Given the description of an element on the screen output the (x, y) to click on. 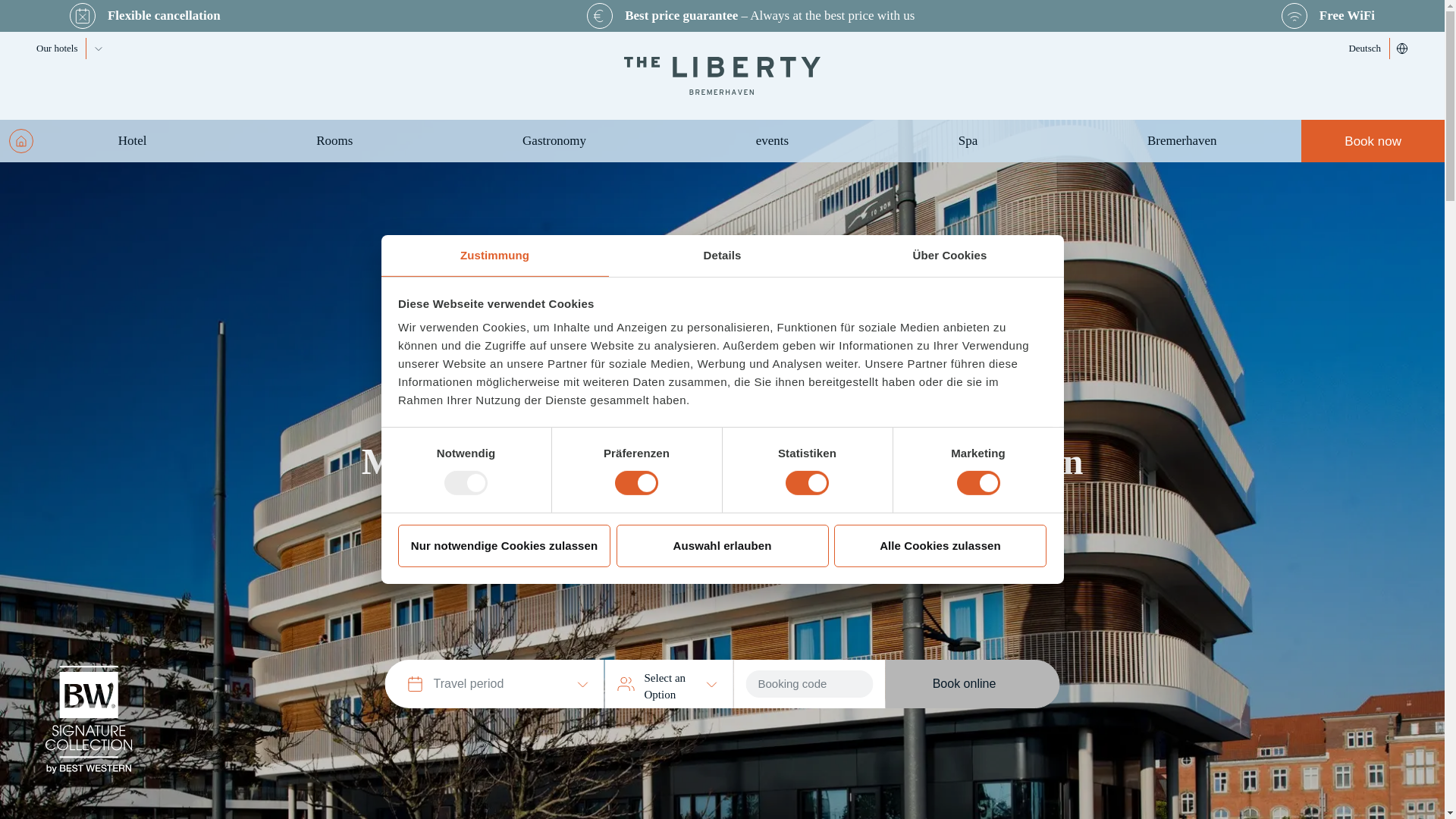
Nur notwendige Cookies zulassen (503, 545)
www.liberty-bremerhaven.com (722, 75)
Details (721, 255)
www.liberty-bremerhaven.com (20, 140)
Auswahl erlauben (721, 545)
Alle Cookies zulassen (940, 545)
Zustimmung (494, 255)
